Given the description of an element on the screen output the (x, y) to click on. 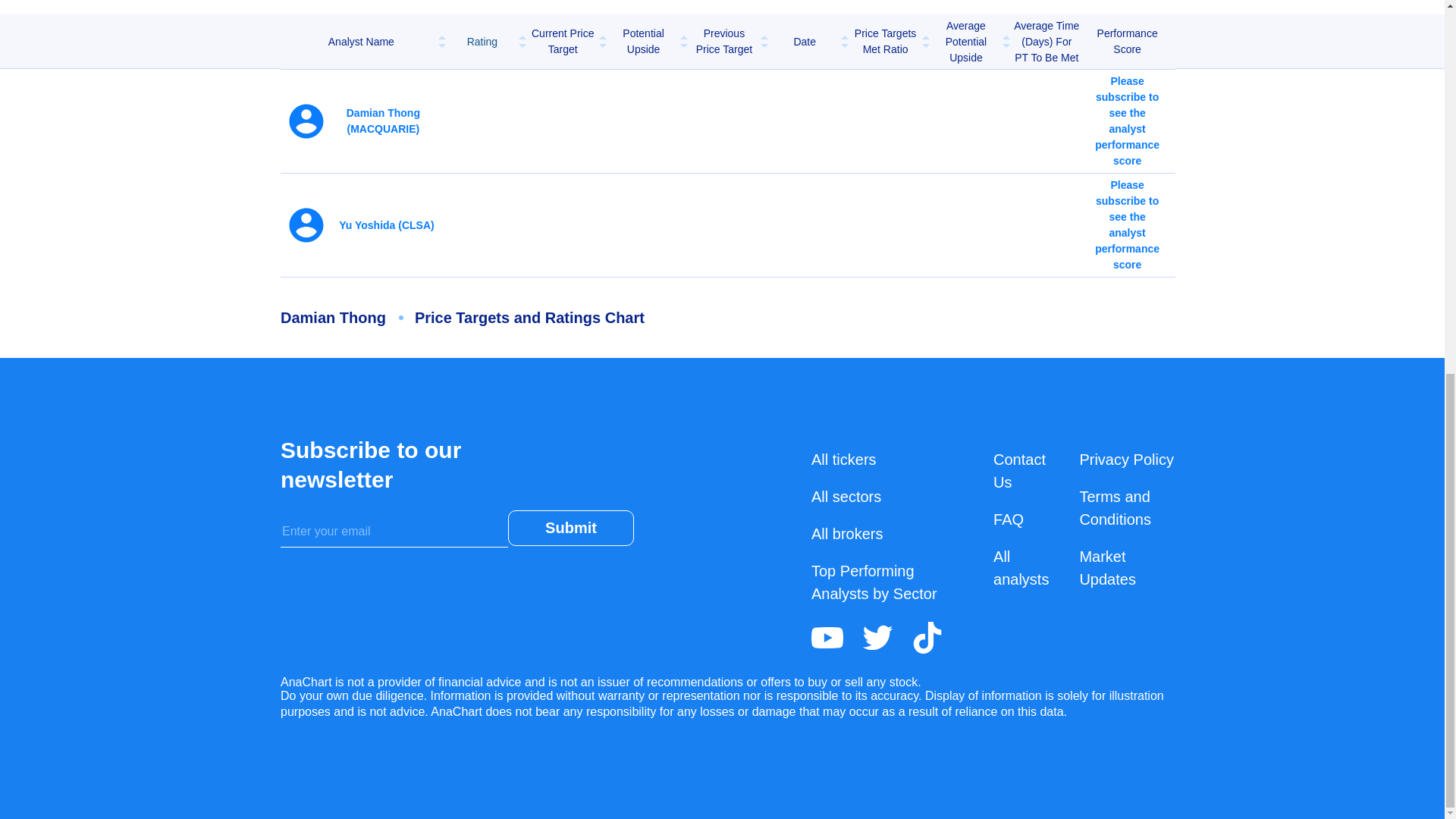
All analysts (1020, 567)
Market Updates (1106, 567)
All brokers (846, 533)
Submit (570, 528)
Contact Us (1018, 470)
FAQ (1007, 519)
All sectors (845, 496)
Privacy Policy (1125, 459)
Top Performing Analysts by Sector (873, 581)
All tickers (843, 459)
